Given the description of an element on the screen output the (x, y) to click on. 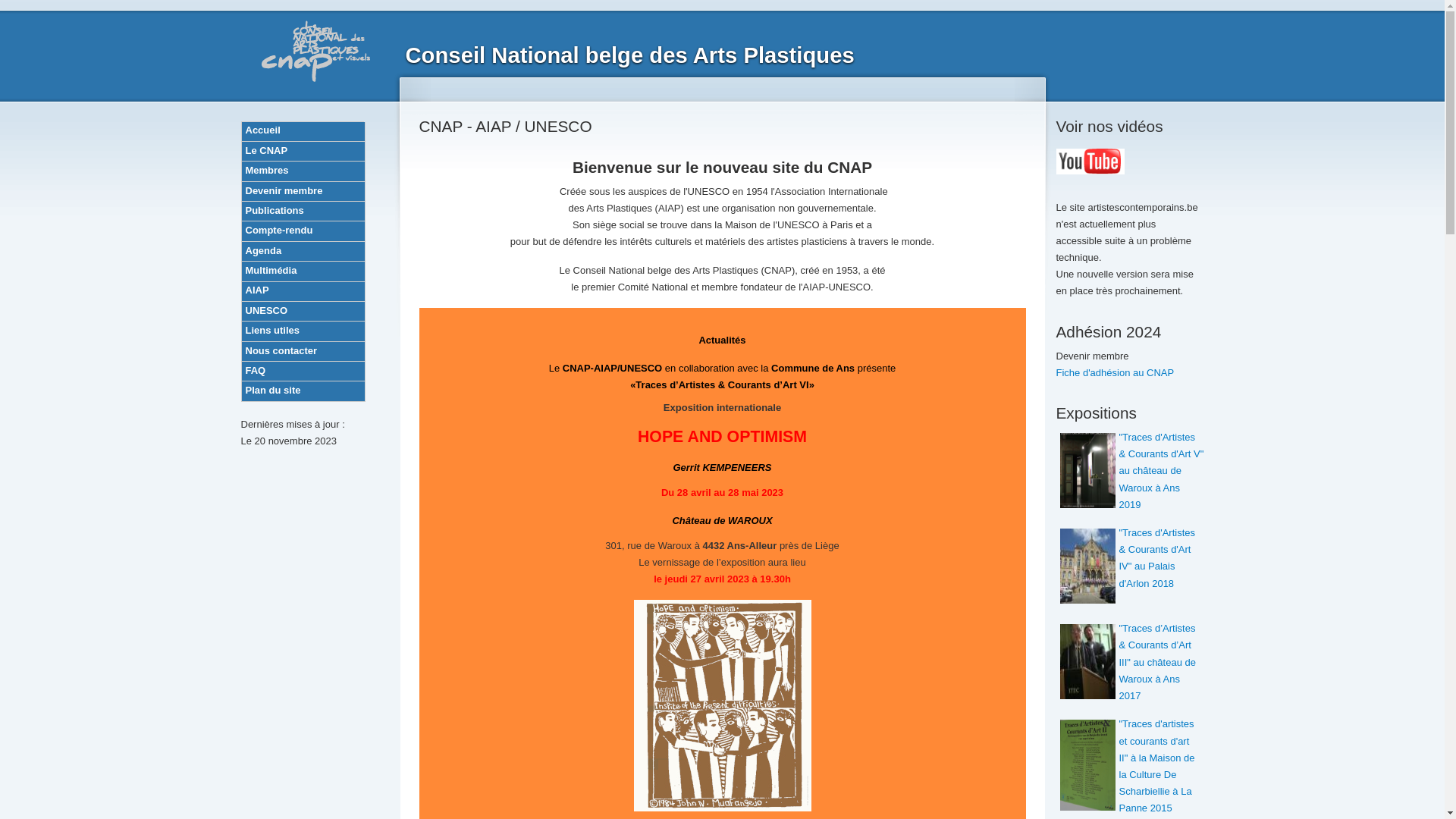
Conseil National belge des Arts Plastiques Element type: text (628, 55)
FAQ Element type: text (302, 370)
Le CNAP Element type: text (302, 150)
Membres Element type: text (302, 169)
Agenda Element type: text (302, 250)
AIAP Element type: text (302, 290)
Devenir membre Element type: text (302, 190)
Liens utiles Element type: text (302, 329)
UNESCO Element type: text (302, 310)
Accueil Element type: text (302, 129)
Publications Element type: text (302, 210)
Compte-rendu Element type: text (302, 229)
Nous contacter Element type: text (302, 350)
Plan du site Element type: text (302, 389)
